Given the description of an element on the screen output the (x, y) to click on. 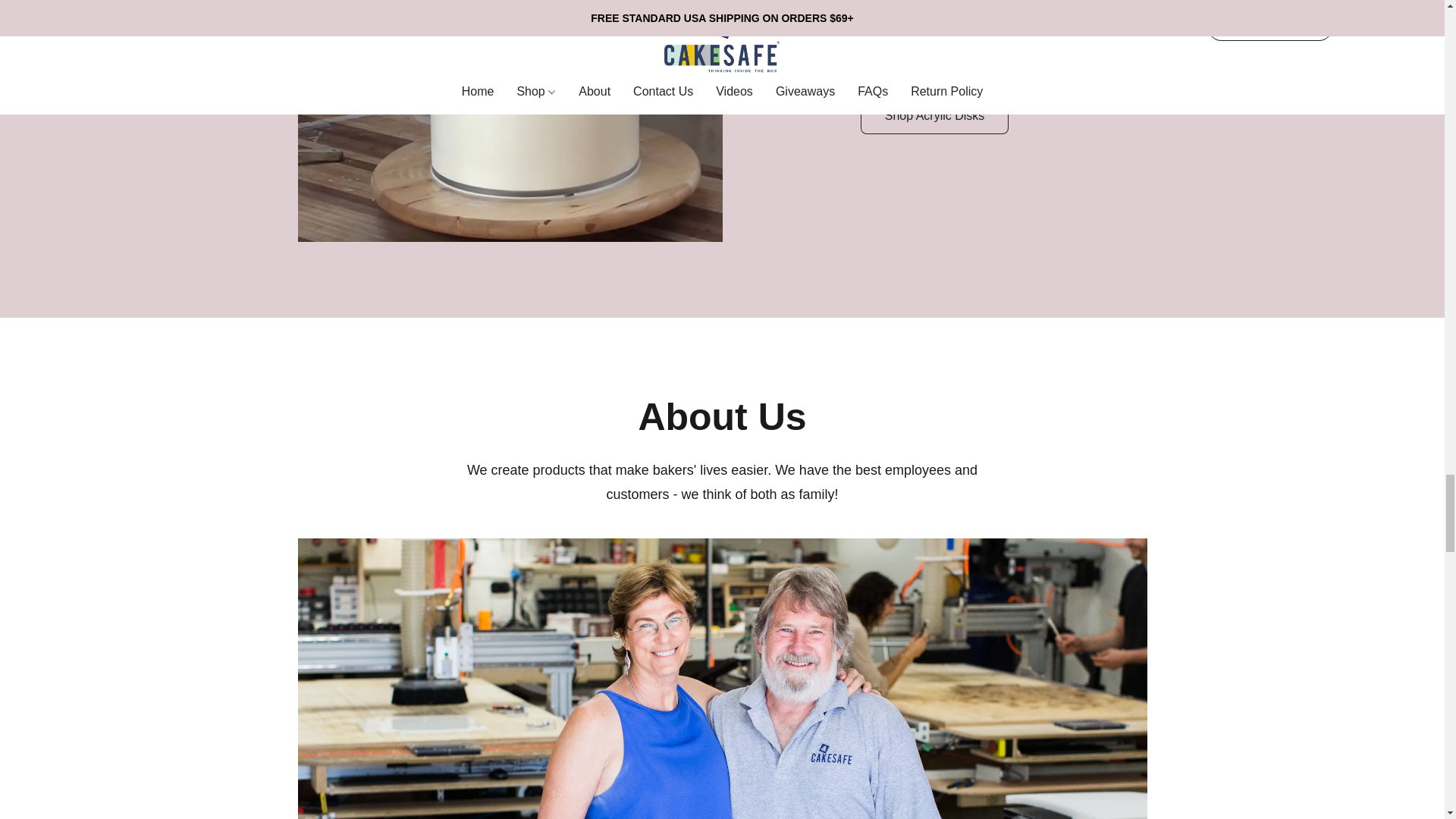
Shop Acrylic Disks (934, 115)
